Given the description of an element on the screen output the (x, y) to click on. 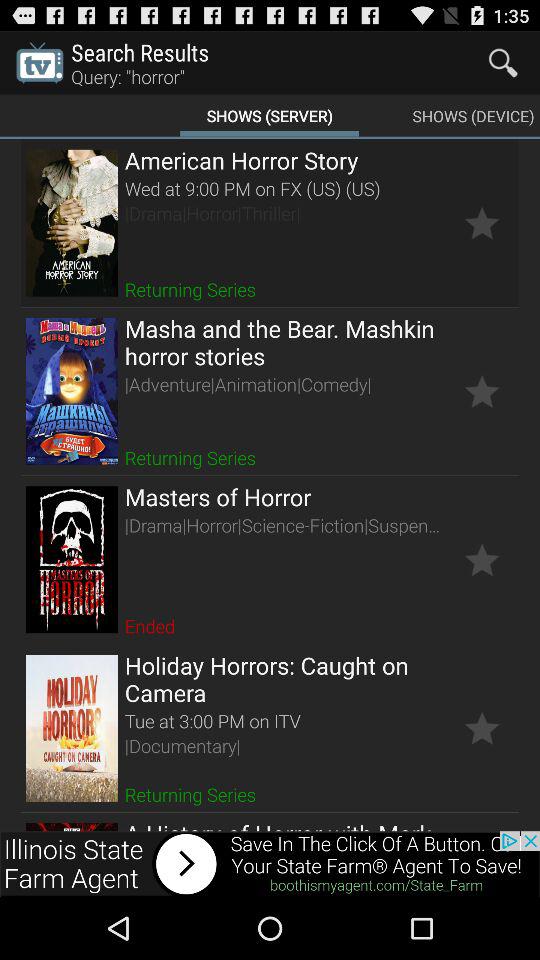
link to advertisement link (270, 864)
